Given the description of an element on the screen output the (x, y) to click on. 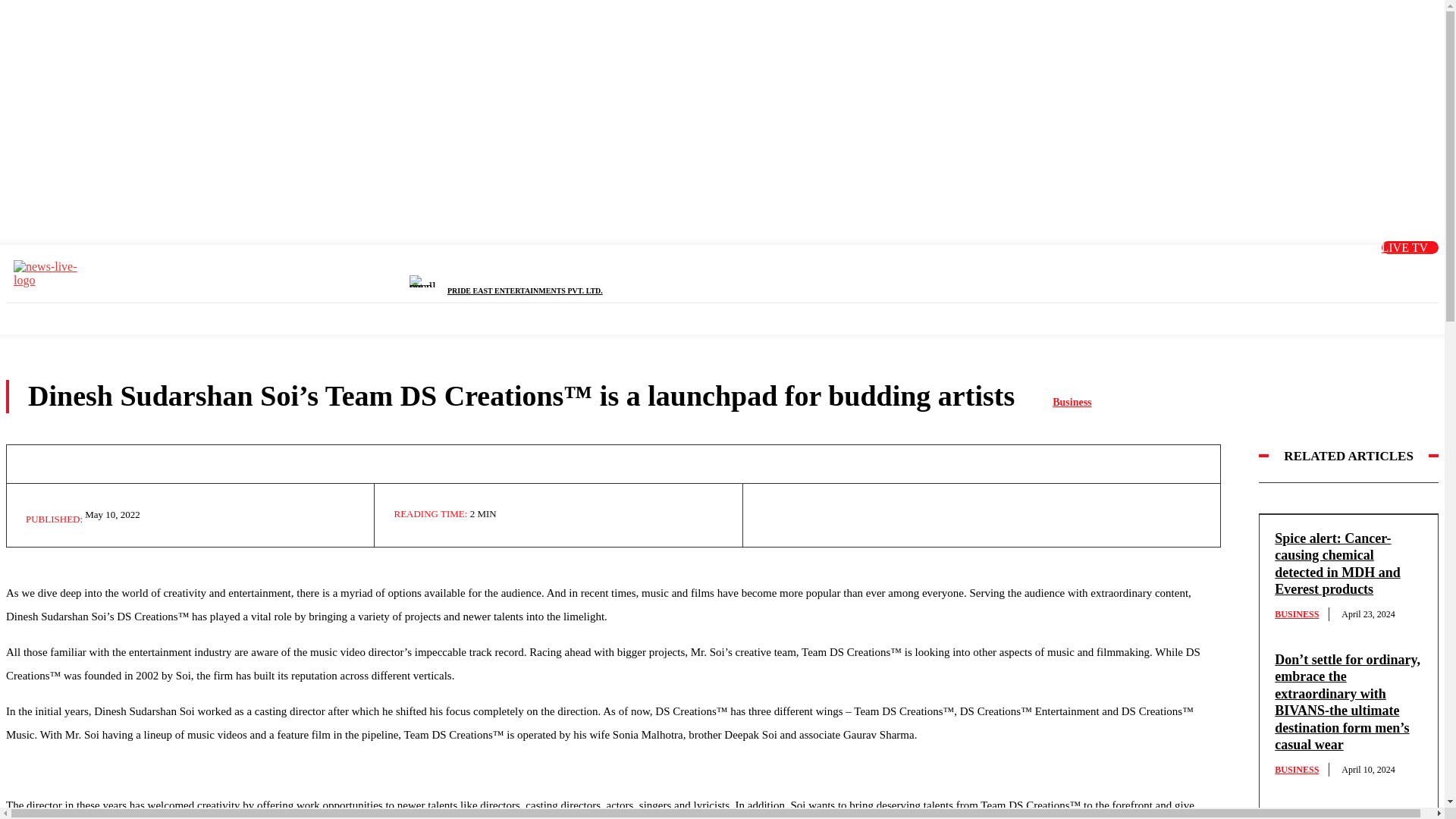
PRIDE EAST ENTERTAINMENTS PVT. LTD. (524, 290)
LIVE TV (1409, 246)
peepl-small (427, 281)
Instagram (1294, 268)
Facebook (1217, 268)
news-live-logo (50, 273)
Twitter (1257, 268)
Youtube (1332, 268)
